Given the description of an element on the screen output the (x, y) to click on. 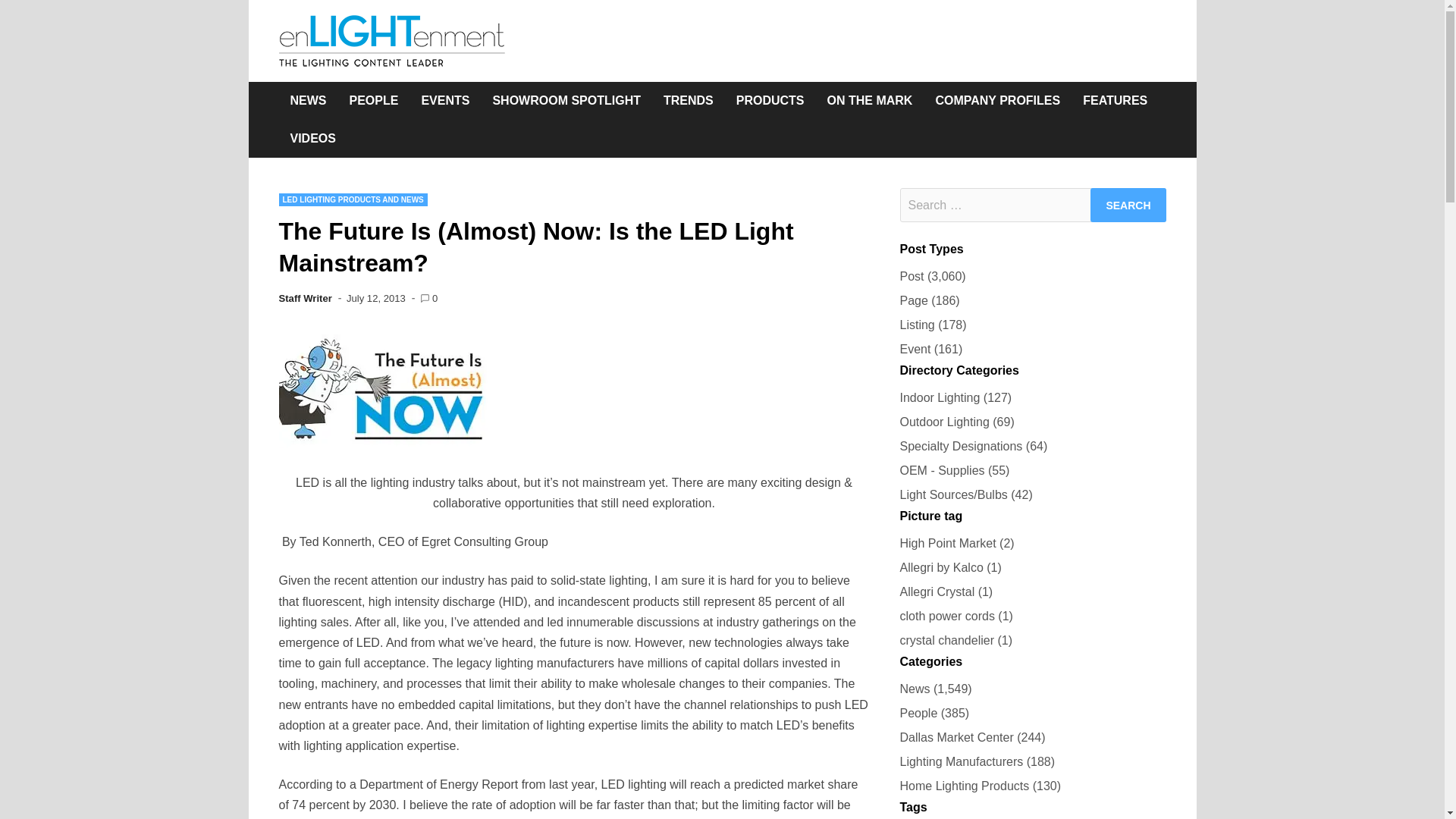
EVENTS (444, 100)
Search (1128, 204)
Search (1128, 204)
TRENDS (688, 100)
COMPANY PROFILES (997, 100)
Staff Writer (305, 297)
SHOWROOM SPOTLIGHT (566, 100)
ON THE MARK (869, 100)
FEATURES (1114, 100)
VIDEOS (313, 138)
